Given the description of an element on the screen output the (x, y) to click on. 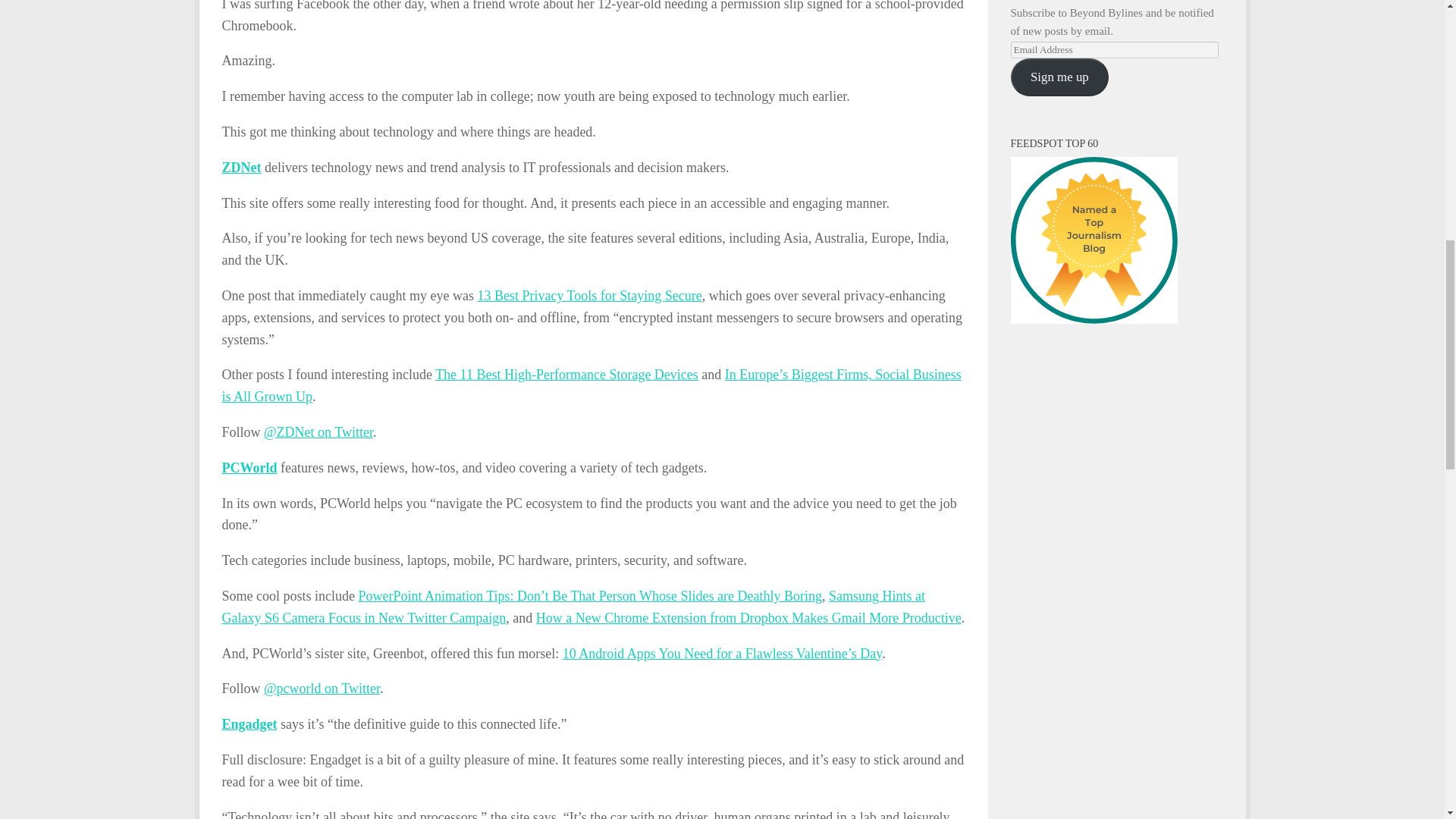
The 11 Best High-Performance Storage Devices (566, 374)
Feedspot-top-50 (1093, 240)
ZDNet (240, 167)
13 Best Privacy Tools for Staying Secure (589, 295)
